Given the description of an element on the screen output the (x, y) to click on. 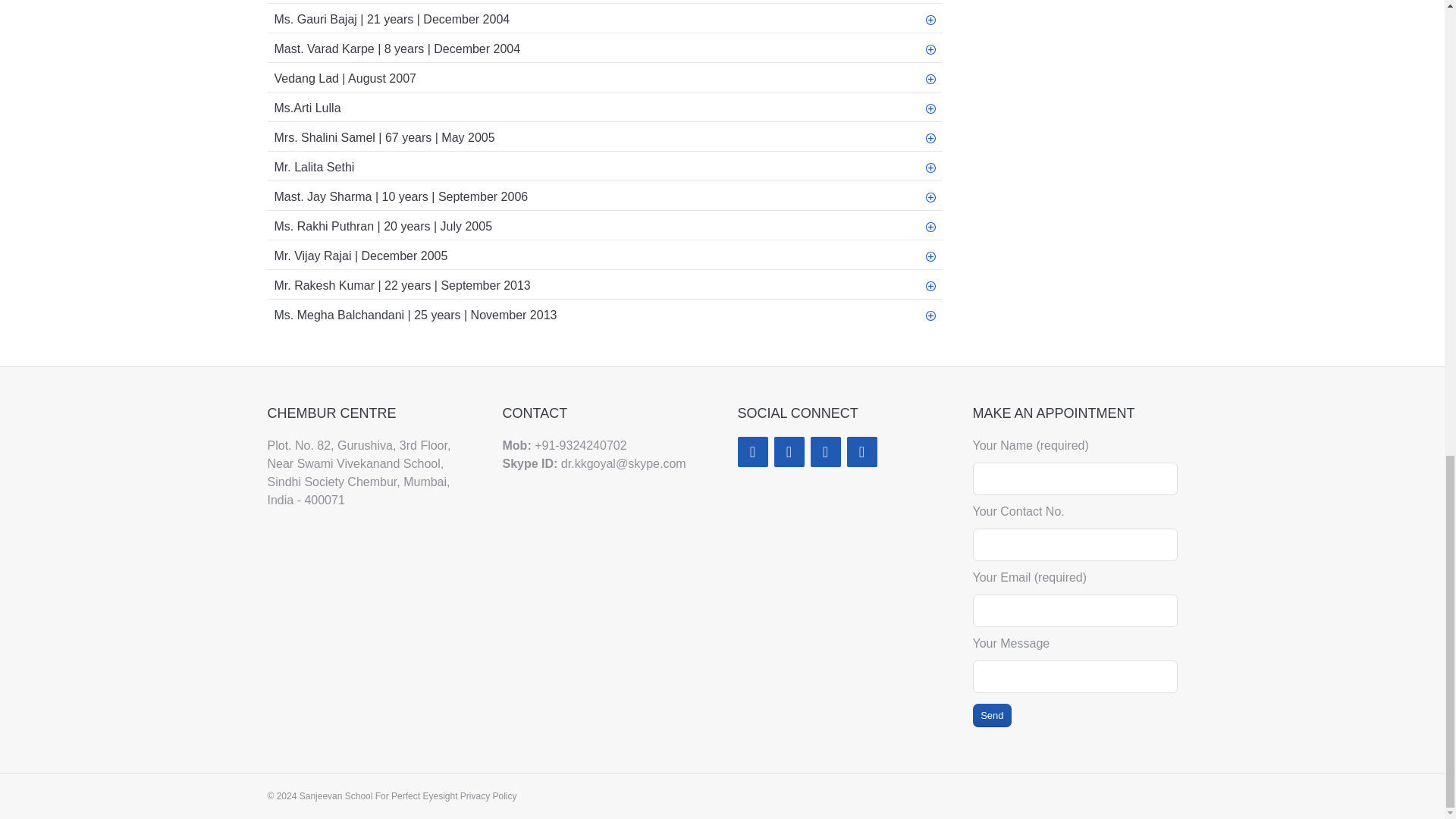
Facebook (751, 451)
Twitter (824, 451)
YouTube (860, 451)
Send (991, 715)
LinkedIn (788, 451)
